Given the description of an element on the screen output the (x, y) to click on. 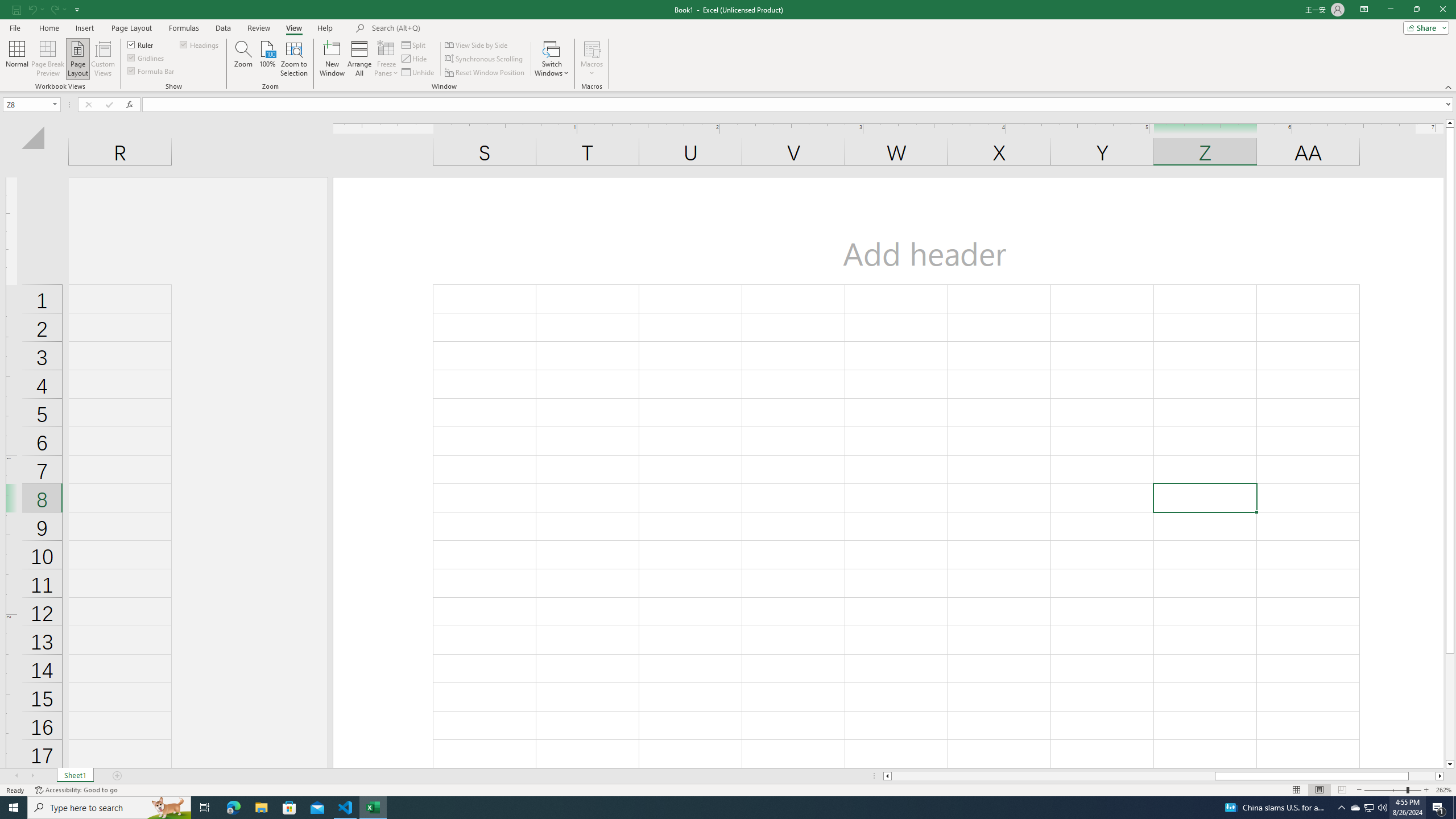
100% (266, 58)
Zoom to Selection (293, 58)
Split (414, 44)
Macros (591, 58)
